Given the description of an element on the screen output the (x, y) to click on. 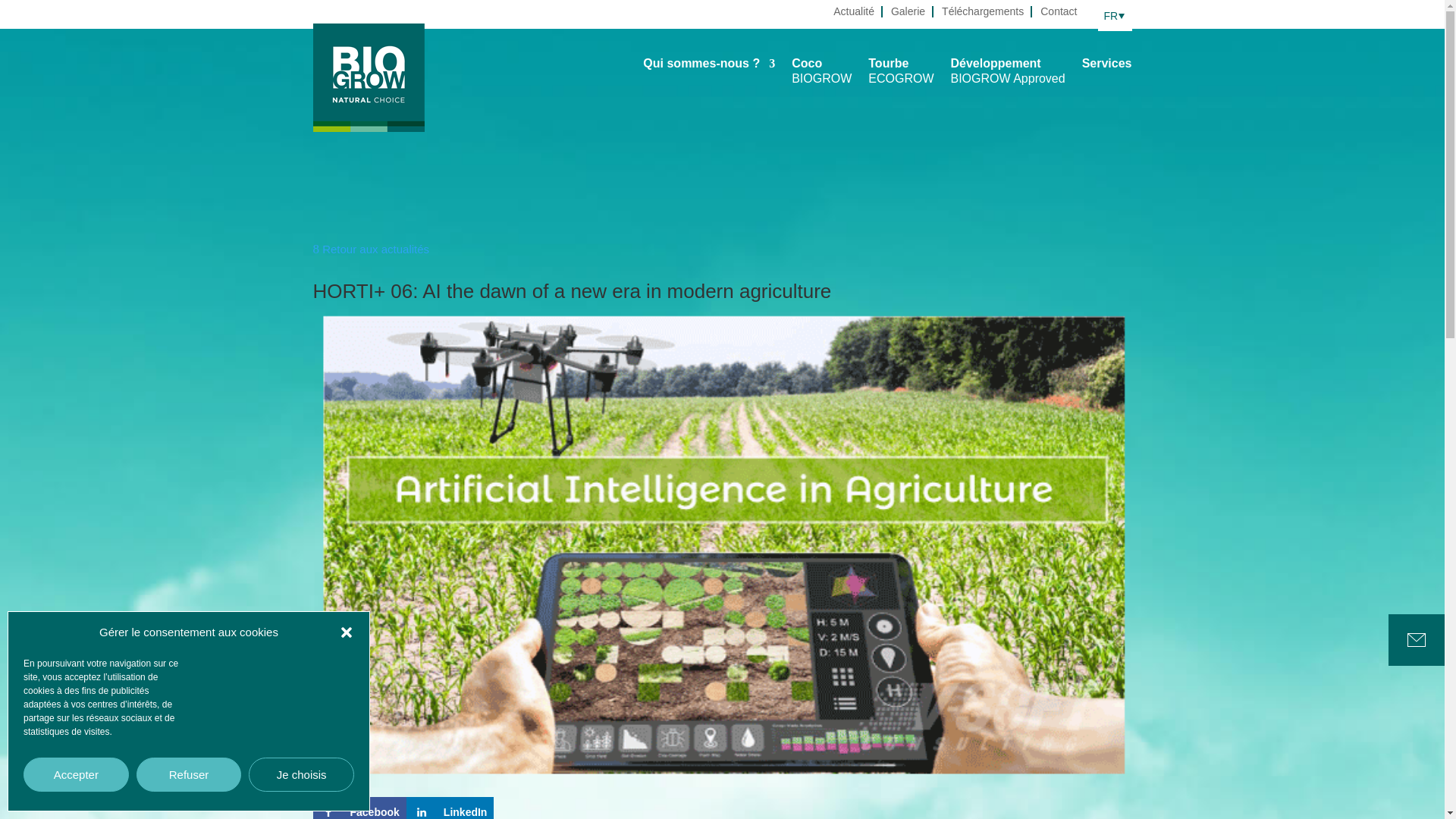
Galerie (900, 75)
Share on Facebook (907, 13)
logo-biogrow (359, 807)
Services (368, 77)
Share on LinkedIn (1106, 66)
Accepter (450, 807)
icon-enveloppe (76, 774)
Contact (1416, 640)
FR (1059, 13)
Je choisis (1114, 15)
artificial-intelligence-in-agriculture (821, 75)
Qui sommes-nous ? (300, 774)
